Given the description of an element on the screen output the (x, y) to click on. 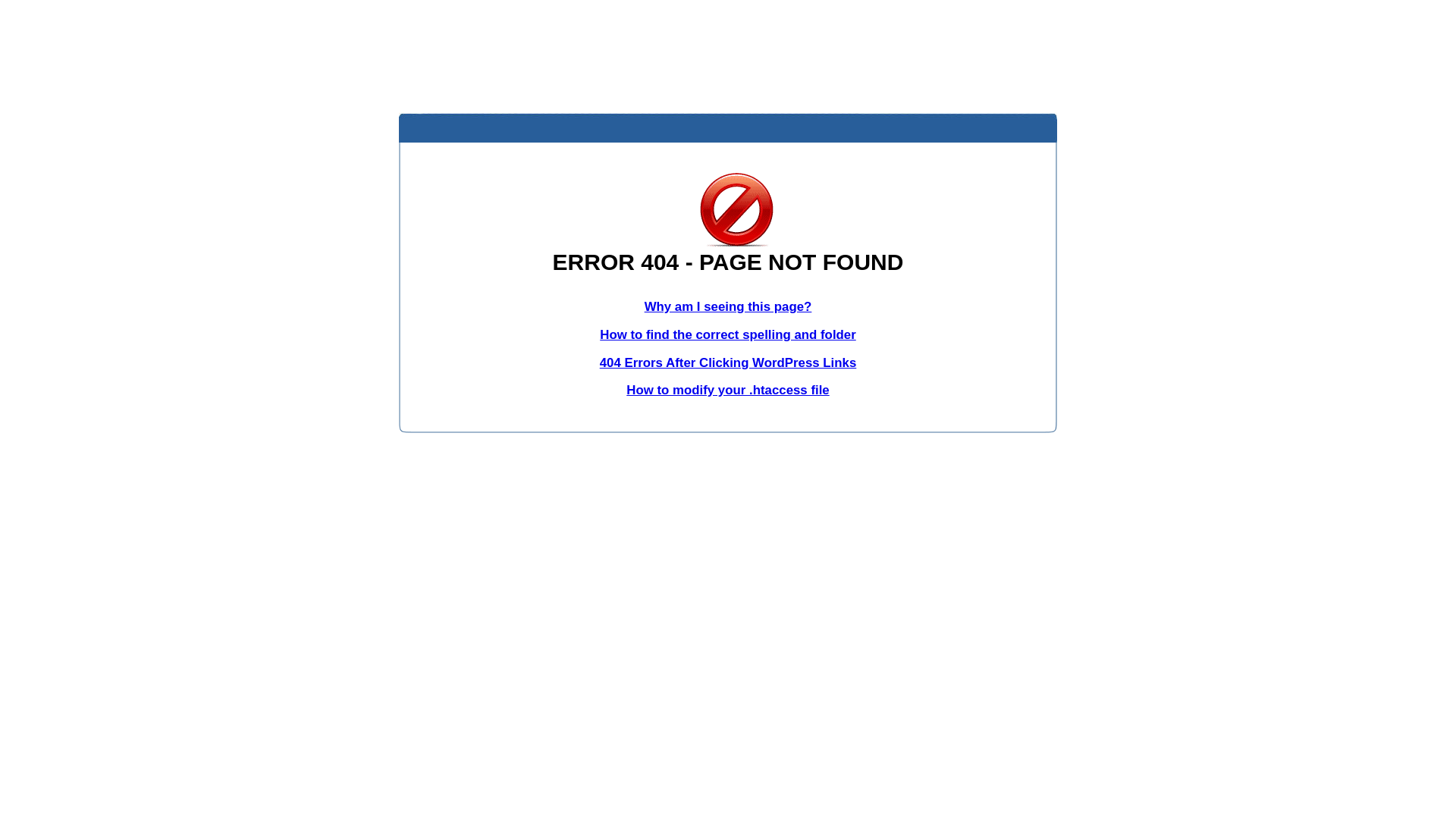
Why am I seeing this page? Element type: text (728, 306)
How to find the correct spelling and folder Element type: text (727, 334)
404 Errors After Clicking WordPress Links Element type: text (727, 362)
How to modify your .htaccess file Element type: text (727, 389)
